Given the description of an element on the screen output the (x, y) to click on. 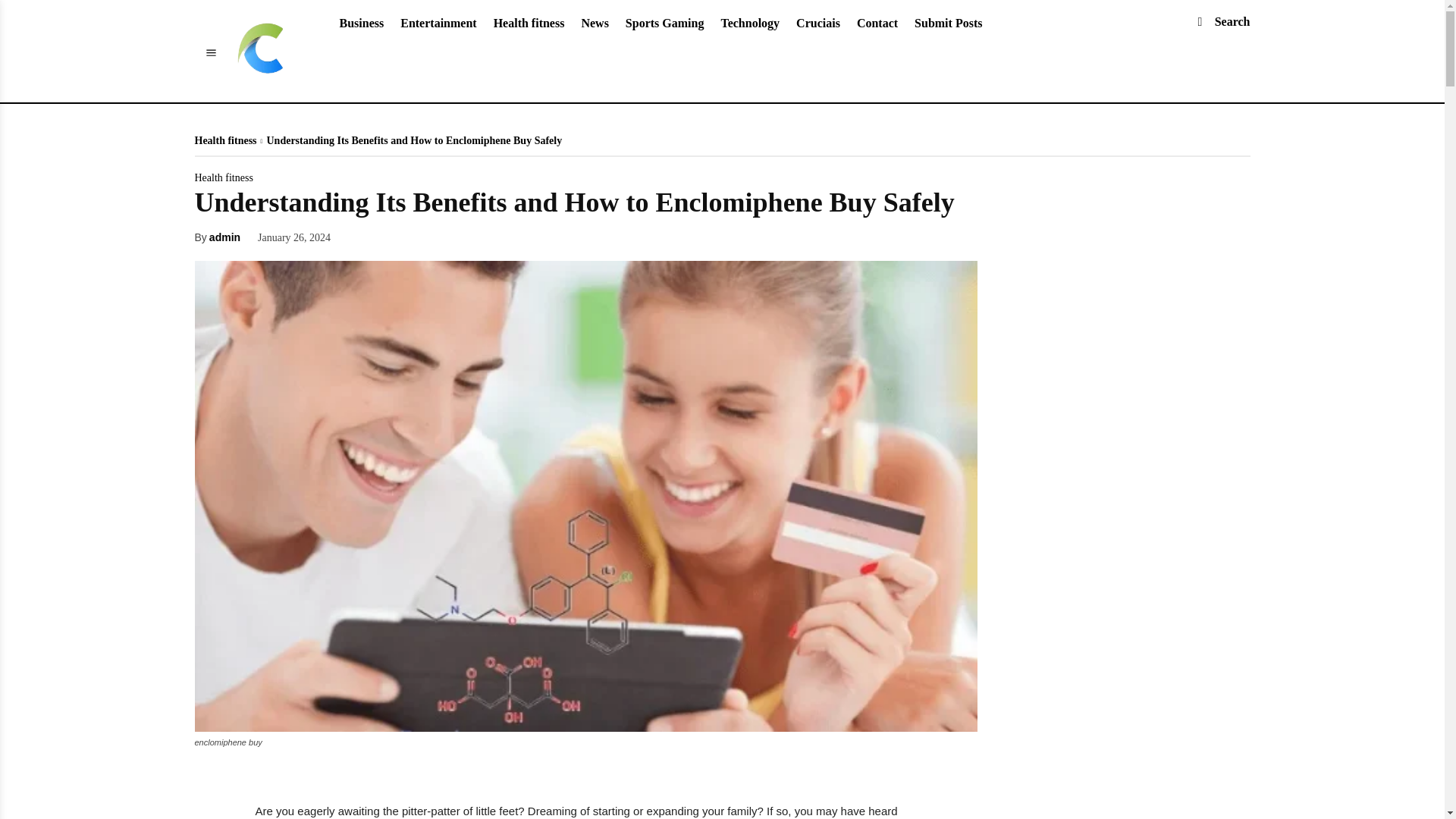
Sports Gaming (665, 22)
Technology (749, 22)
Submit Posts (947, 22)
Contact (876, 22)
Entertainment (437, 22)
News (593, 22)
Search (1217, 21)
Business (360, 22)
View all posts in Health fitness (224, 140)
admin (224, 237)
Pinterest (433, 236)
Health fitness (222, 177)
Health fitness (224, 140)
WhatsApp (467, 236)
